Given the description of an element on the screen output the (x, y) to click on. 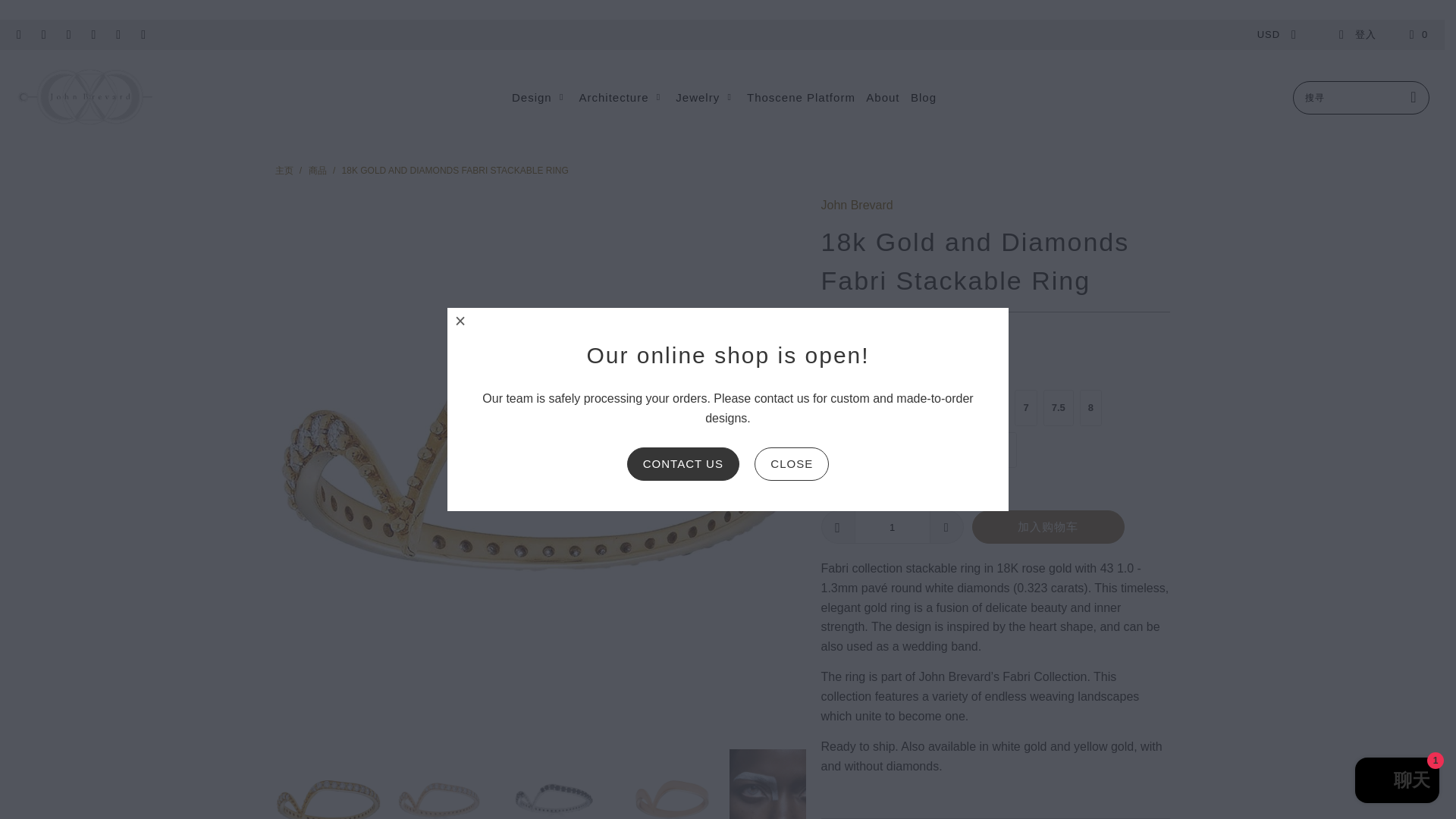
John Brevard (856, 205)
John Brevard on Instagram (116, 34)
John Brevard (283, 170)
1 (891, 526)
Email John Brevard (142, 34)
John Brevard on YouTube (68, 34)
John Brevard (84, 97)
John Brevard on Twitter (17, 34)
John Brevard on Pinterest (92, 34)
John Brevard on Facebook (42, 34)
